Given the description of an element on the screen output the (x, y) to click on. 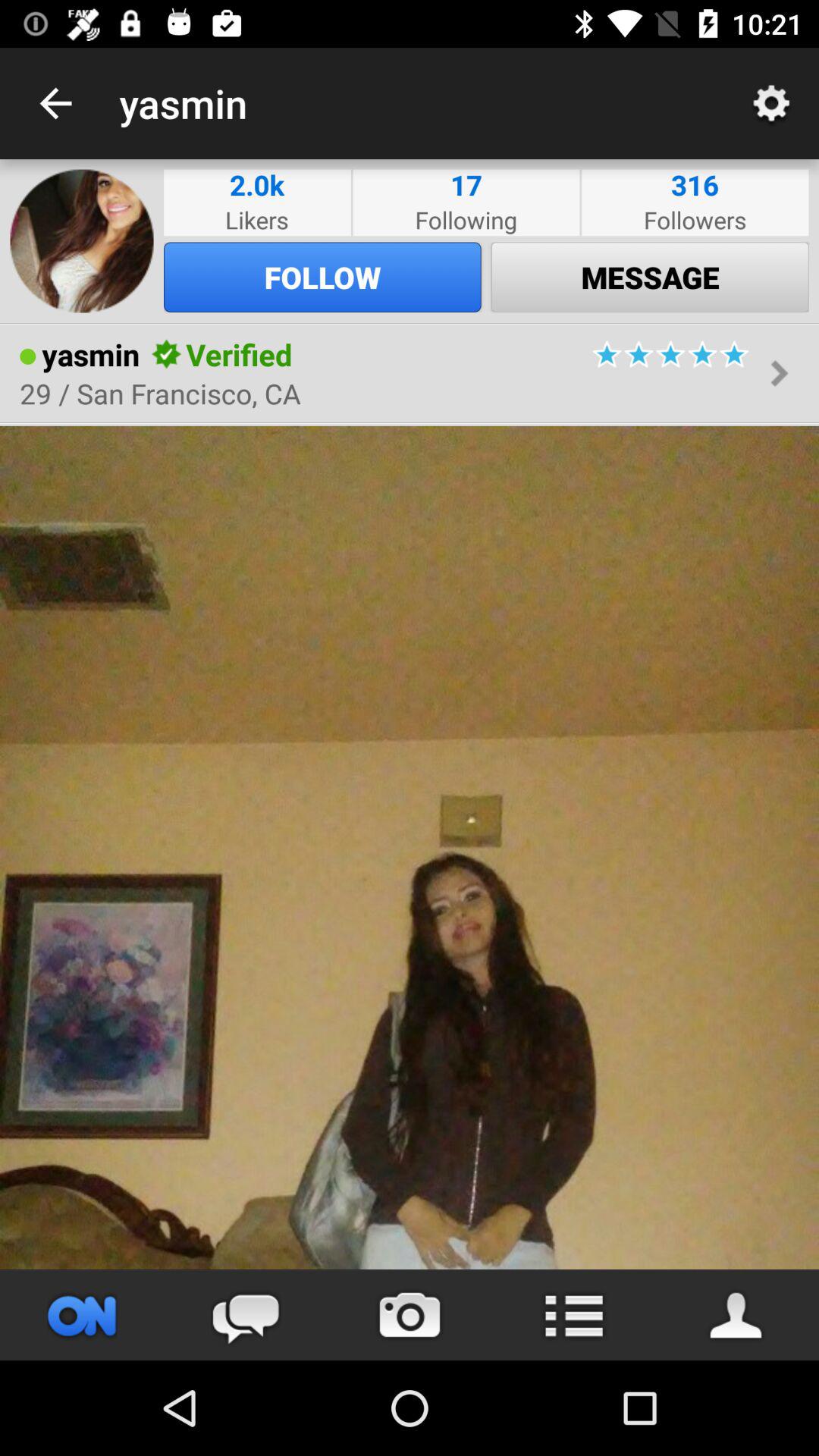
view profile (737, 1315)
